Given the description of an element on the screen output the (x, y) to click on. 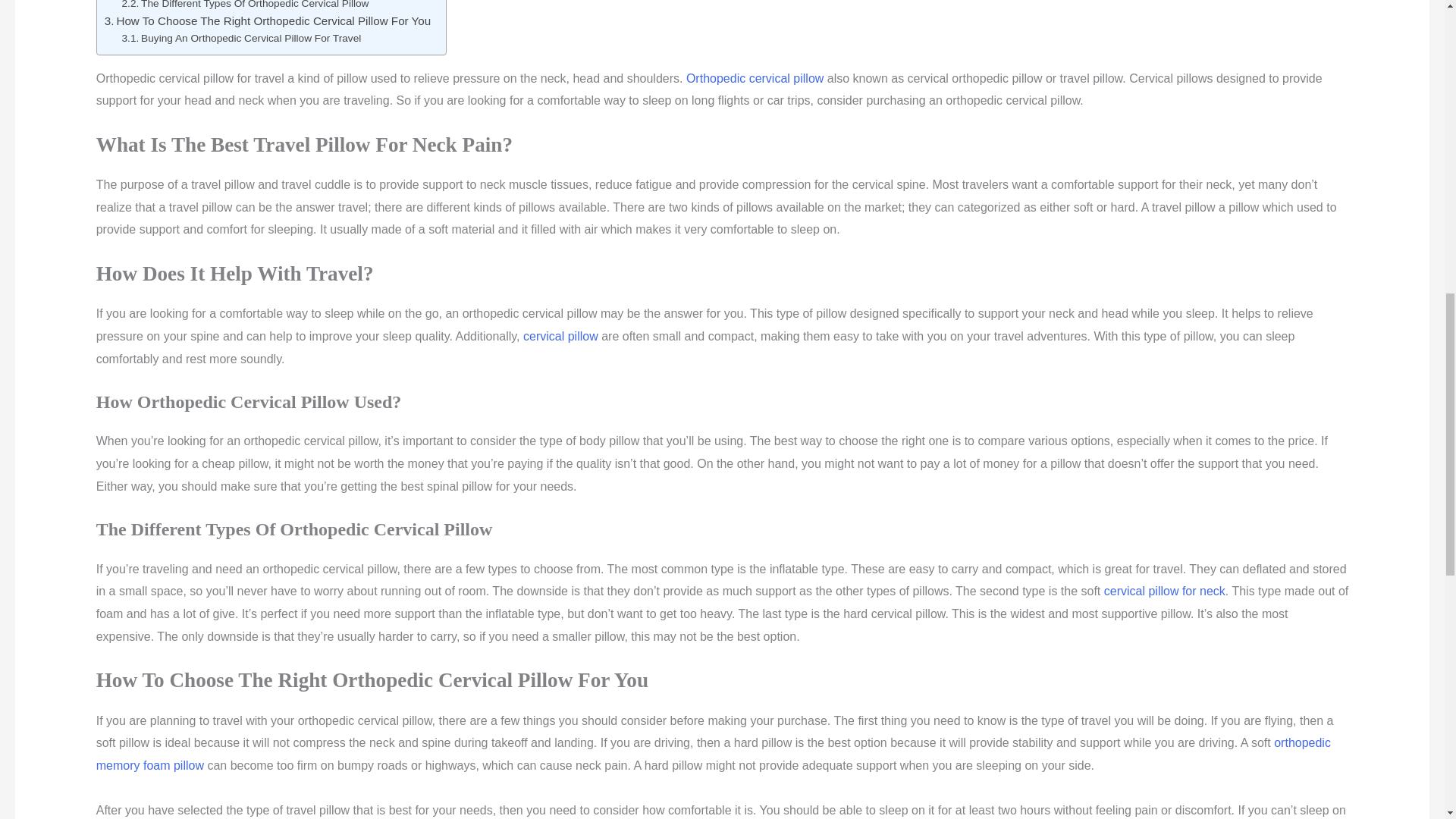
Buying An Orthopedic Cervical Pillow For Travel (241, 38)
The Different Types Of Orthopedic Cervical Pillow (245, 6)
The Different Types Of Orthopedic Cervical Pillow (245, 6)
How To Choose The Right Orthopedic Cervical Pillow For You (267, 21)
cervical pillow (560, 336)
cervical pillow for neck (1164, 590)
How To Choose The Right Orthopedic Cervical Pillow For You (267, 21)
Buying An Orthopedic Cervical Pillow For Travel (241, 38)
Orthopedic cervical pillow (754, 78)
orthopedic memory foam pillow (713, 754)
